Given the description of an element on the screen output the (x, y) to click on. 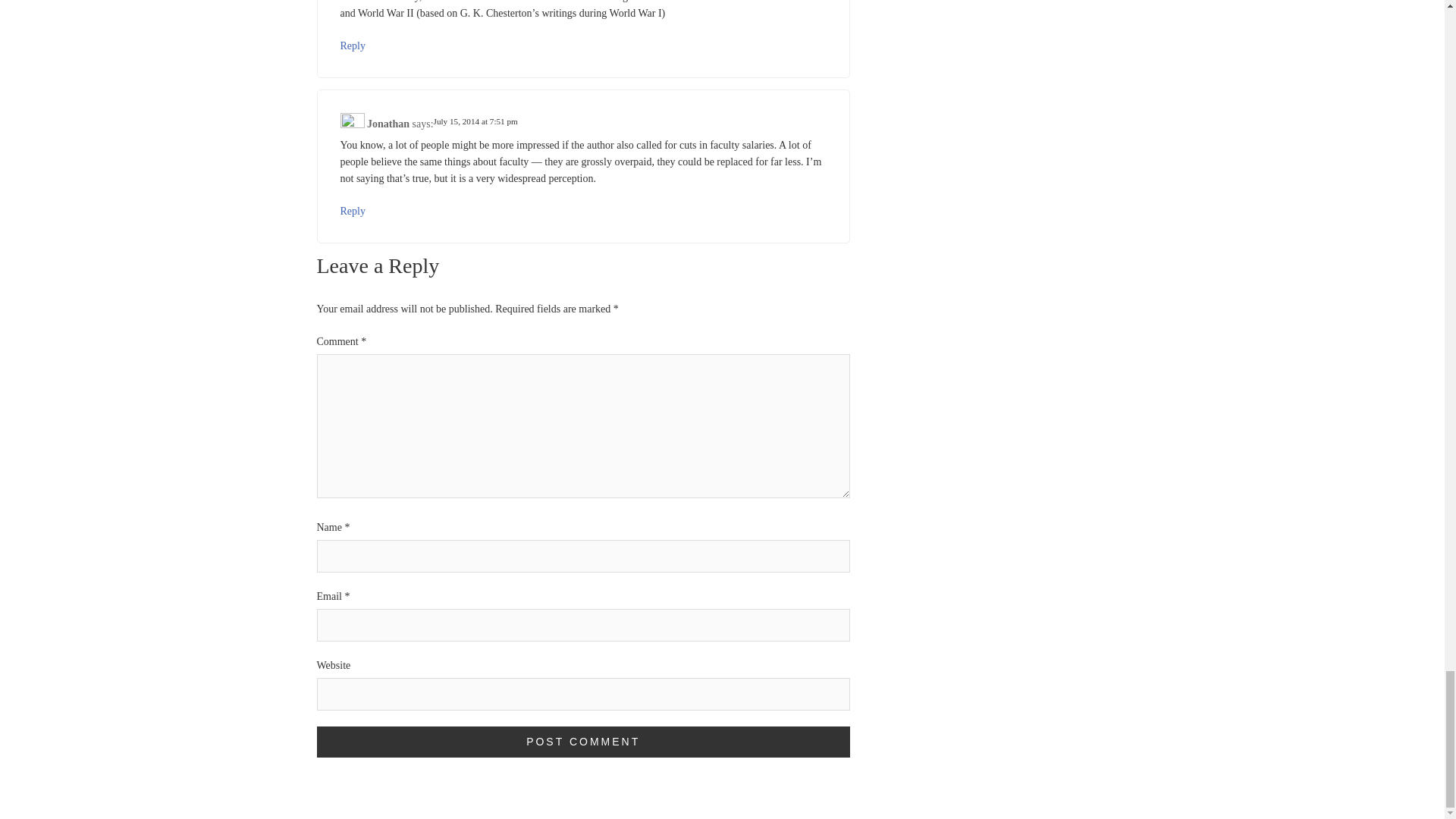
Post Comment (583, 741)
Post Comment (583, 741)
Reply (352, 211)
July 15, 2014 at 7:51 pm (475, 121)
Reply (352, 45)
